Given the description of an element on the screen output the (x, y) to click on. 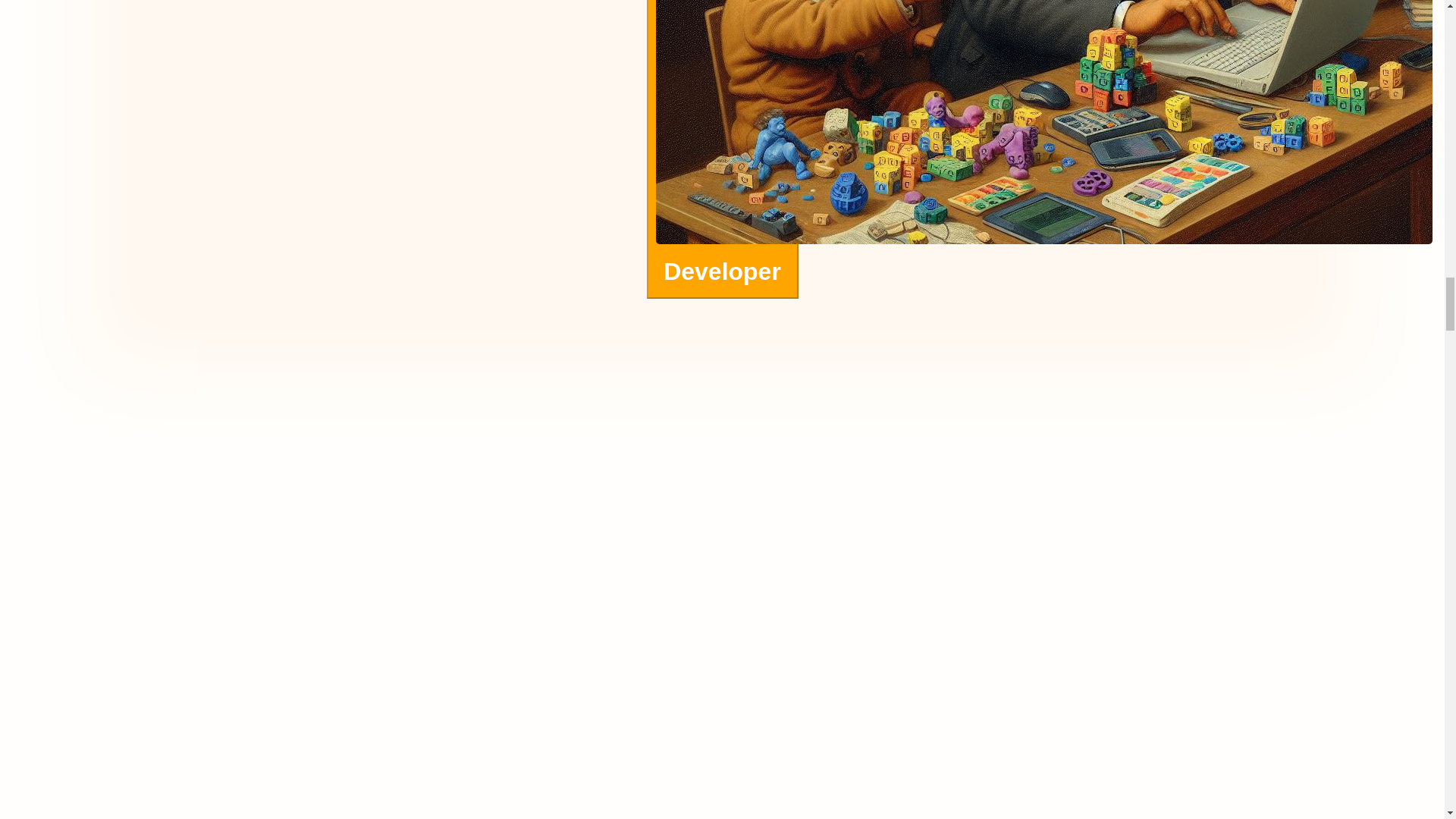
Developer (721, 149)
Developer (721, 275)
